Given the description of an element on the screen output the (x, y) to click on. 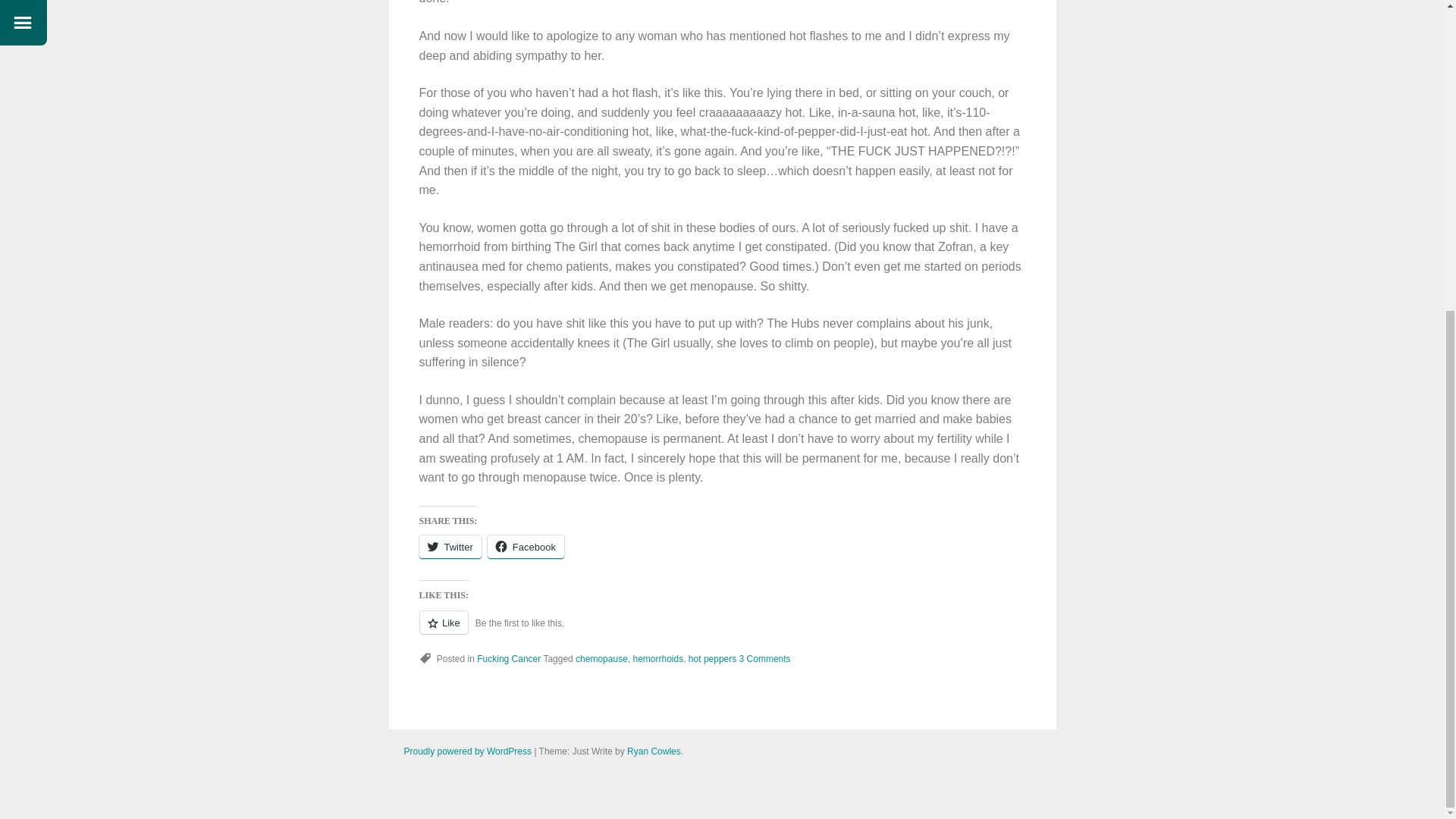
Facebook (525, 546)
Fucking Cancer (508, 658)
chemopause (601, 658)
Ryan Cowles (654, 751)
3 Comments (764, 658)
hemorrhoids (656, 658)
Like or Reblog (722, 630)
Click to share on Facebook (525, 546)
hot peppers (712, 658)
Twitter (449, 546)
